Given the description of an element on the screen output the (x, y) to click on. 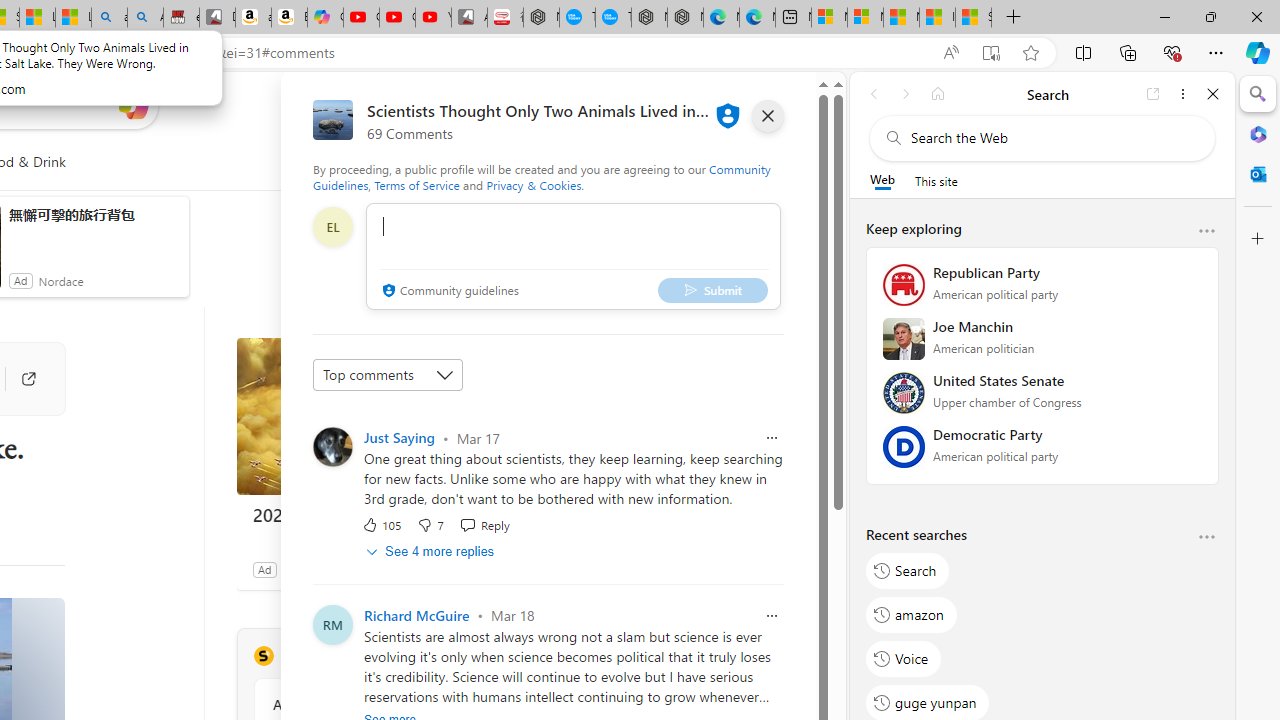
Read aloud this page (Ctrl+Shift+U) (950, 53)
Web scope (882, 180)
Search (907, 570)
See 4 more replies (431, 551)
Nordace - Nordace has arrived Hong Kong (685, 17)
Submit (712, 290)
This site scope (936, 180)
Copilot (Ctrl+Shift+.) (1258, 52)
I Gained 20 Pounds of Muscle in 30 Days! | Watch (937, 17)
Joe Manchin American politician (1042, 345)
105 Like (381, 524)
Just Saying (399, 437)
